Given the description of an element on the screen output the (x, y) to click on. 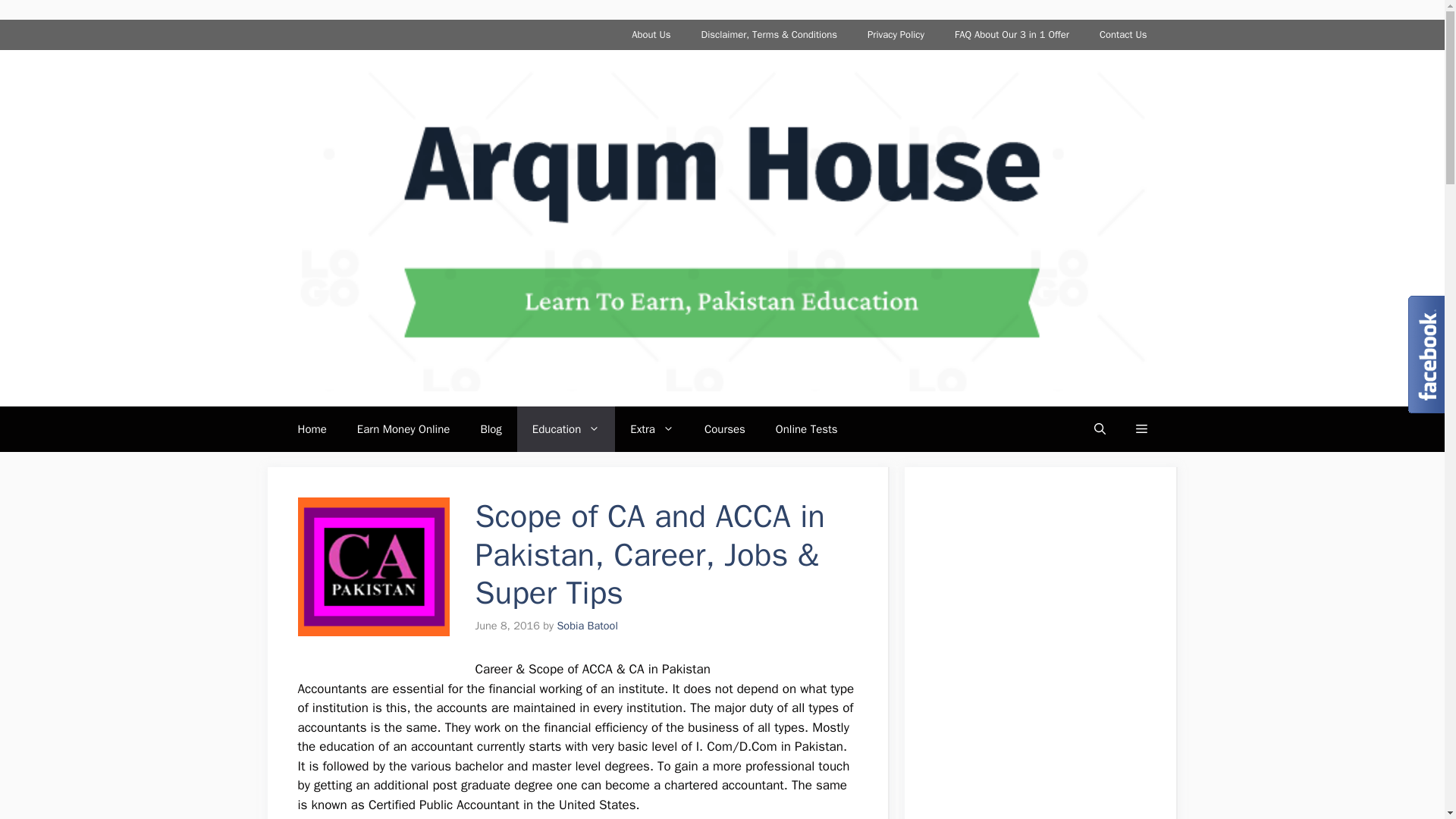
Sobia Batool (586, 625)
Education (565, 429)
Online Tests (806, 429)
Courses (724, 429)
Home (311, 429)
Earn Money Online (403, 429)
About Us (650, 34)
View all posts by Sobia Batool (586, 625)
Contact Us (1122, 34)
Privacy Policy (895, 34)
Extra (651, 429)
Blog (490, 429)
FAQ About Our 3 in 1 Offer (1011, 34)
